Given the description of an element on the screen output the (x, y) to click on. 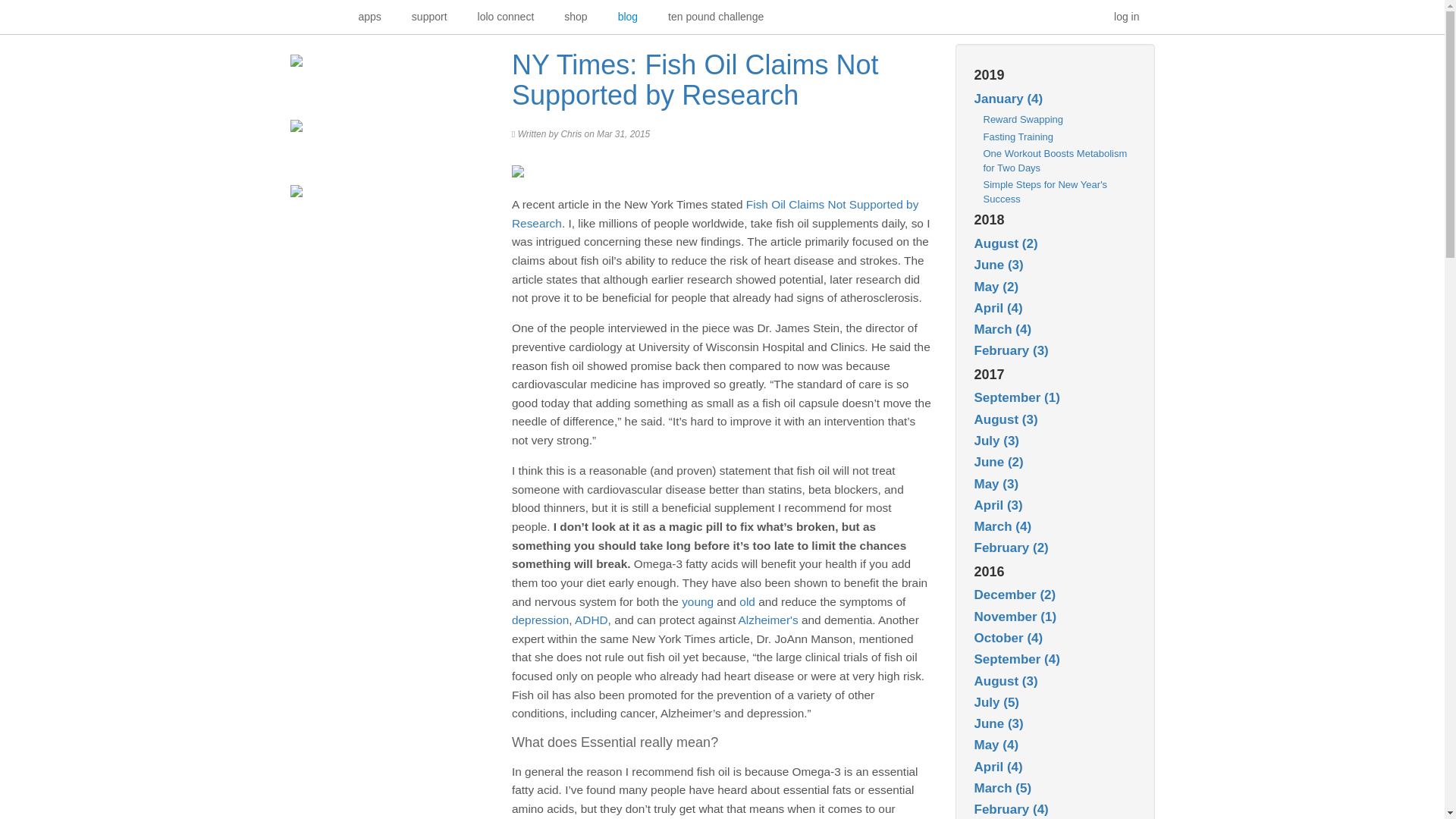
depression (540, 619)
ten pound challenge (715, 17)
Simple Steps for New Year's Success (1044, 191)
old (747, 600)
apps (369, 17)
NY Times: Fish Oil Claims Not Supported by Research (694, 79)
Fasting Training (1017, 136)
lolo connect (506, 17)
ADHD (591, 619)
shop (575, 17)
